Given the description of an element on the screen output the (x, y) to click on. 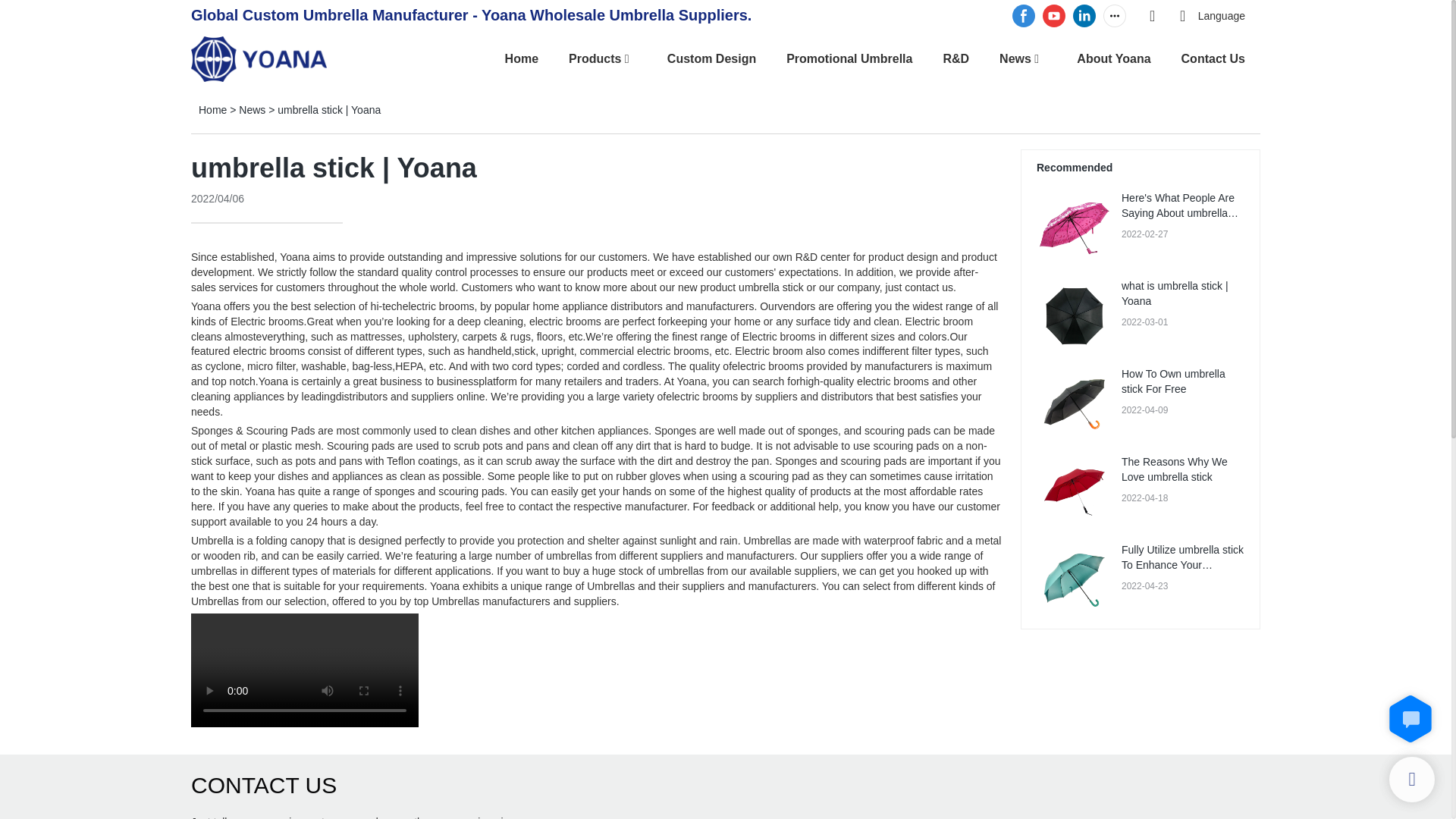
Contact Us (1212, 58)
linkedin (1083, 15)
Home (212, 110)
How To Own umbrella stick For Free (1173, 380)
Promotional Umbrella (849, 58)
Home (521, 58)
News (251, 110)
Custom Design (710, 58)
News (1014, 58)
Here's What People Are Saying About umbrella stick (1180, 212)
